Given the description of an element on the screen output the (x, y) to click on. 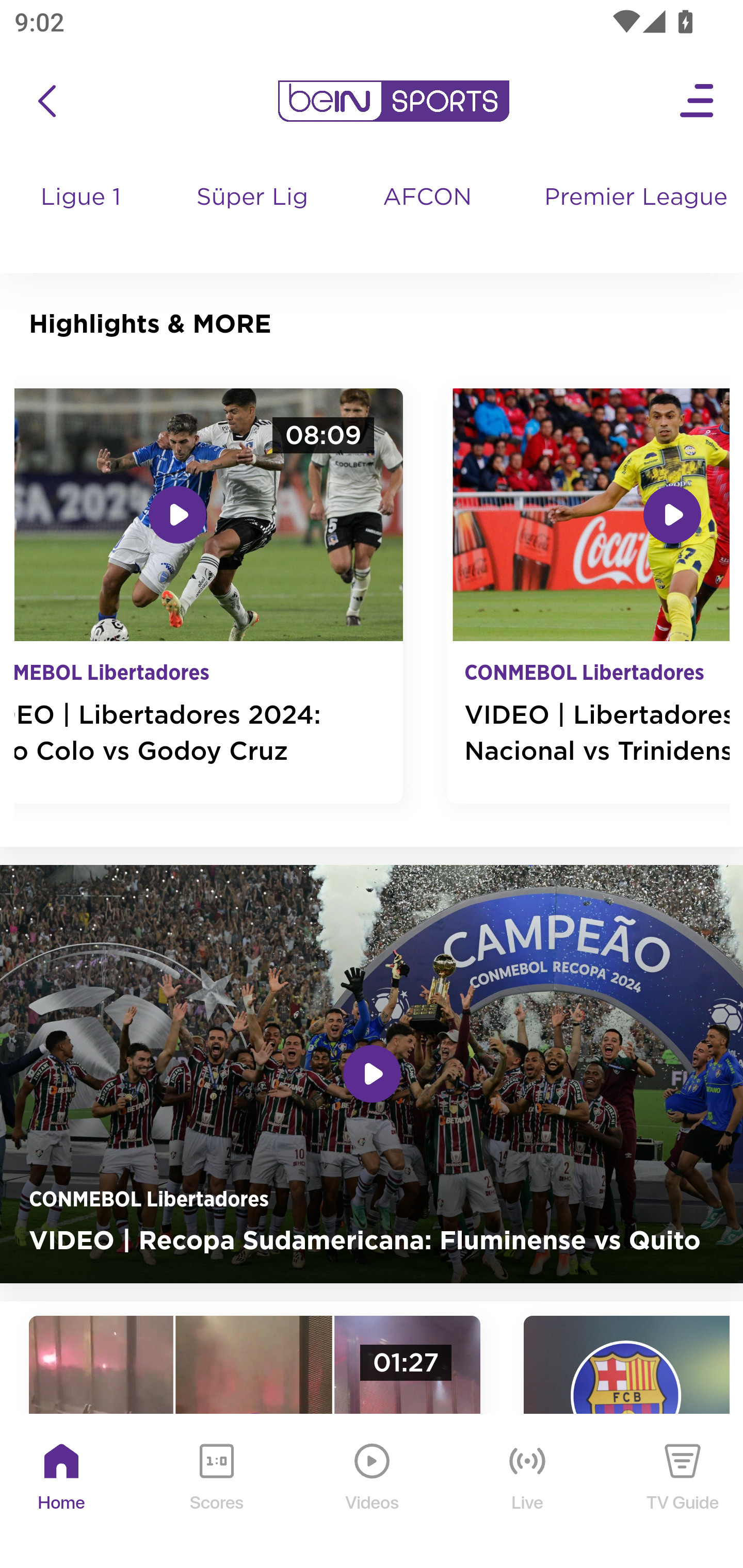
en-us?platform=mobile_android bein logo (392, 101)
icon back (46, 101)
Open Menu Icon (697, 101)
Ligue 1 (81, 216)
Süper Lig (253, 216)
AFCON (426, 198)
Premier League (636, 198)
Home Home Icon Home (61, 1491)
Scores Scores Icon Scores (216, 1491)
Videos Videos Icon Videos (372, 1491)
TV Guide TV Guide Icon TV Guide (682, 1491)
